Given the description of an element on the screen output the (x, y) to click on. 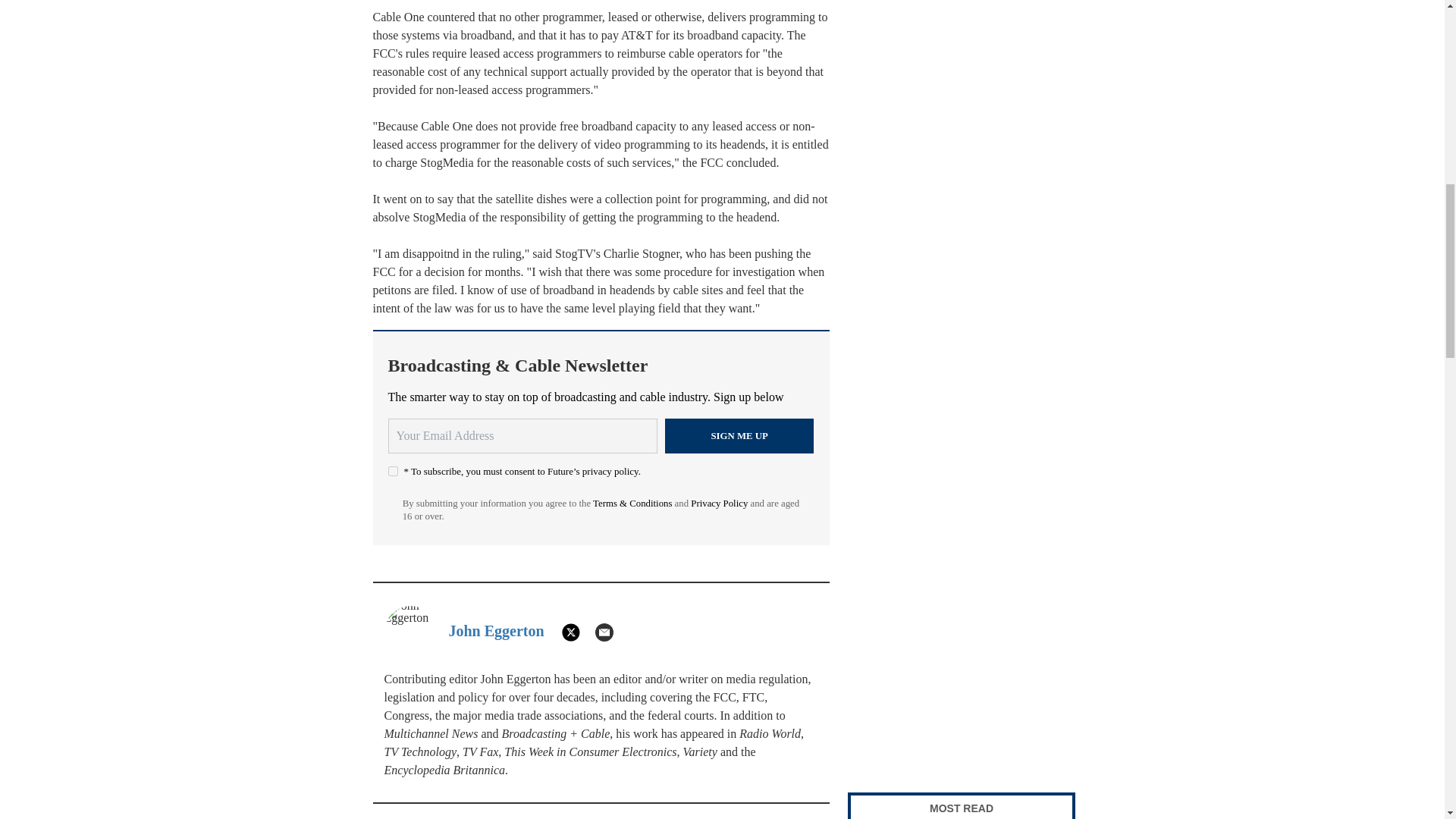
Sign me up (739, 435)
Sign me up (739, 435)
on (392, 470)
Privacy Policy (719, 502)
